Given the description of an element on the screen output the (x, y) to click on. 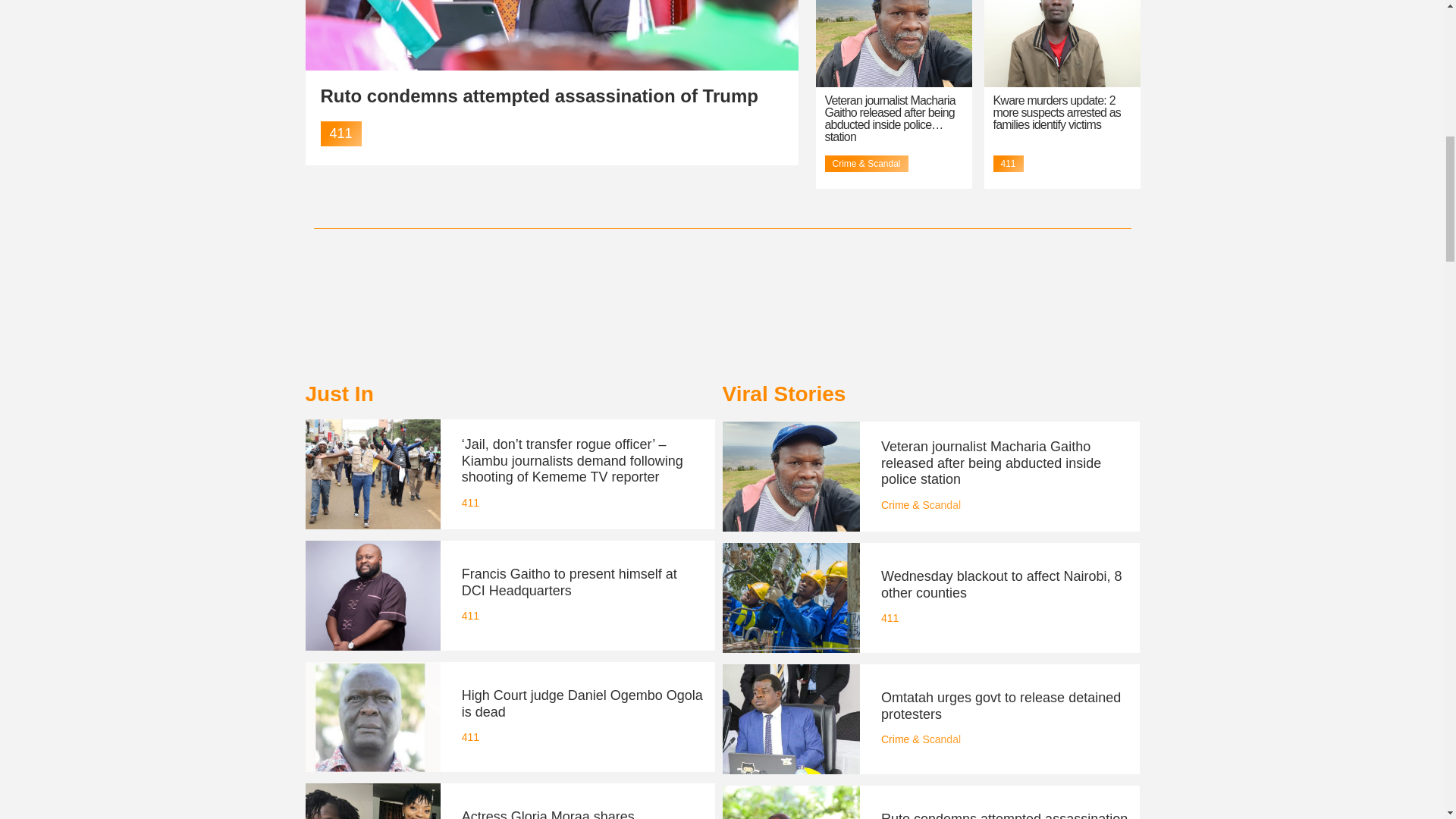
Francis Gaitho to present himself at DCI Headquarters (569, 582)
Ruto condemns attempted assassination of Trump (538, 95)
